Given the description of an element on the screen output the (x, y) to click on. 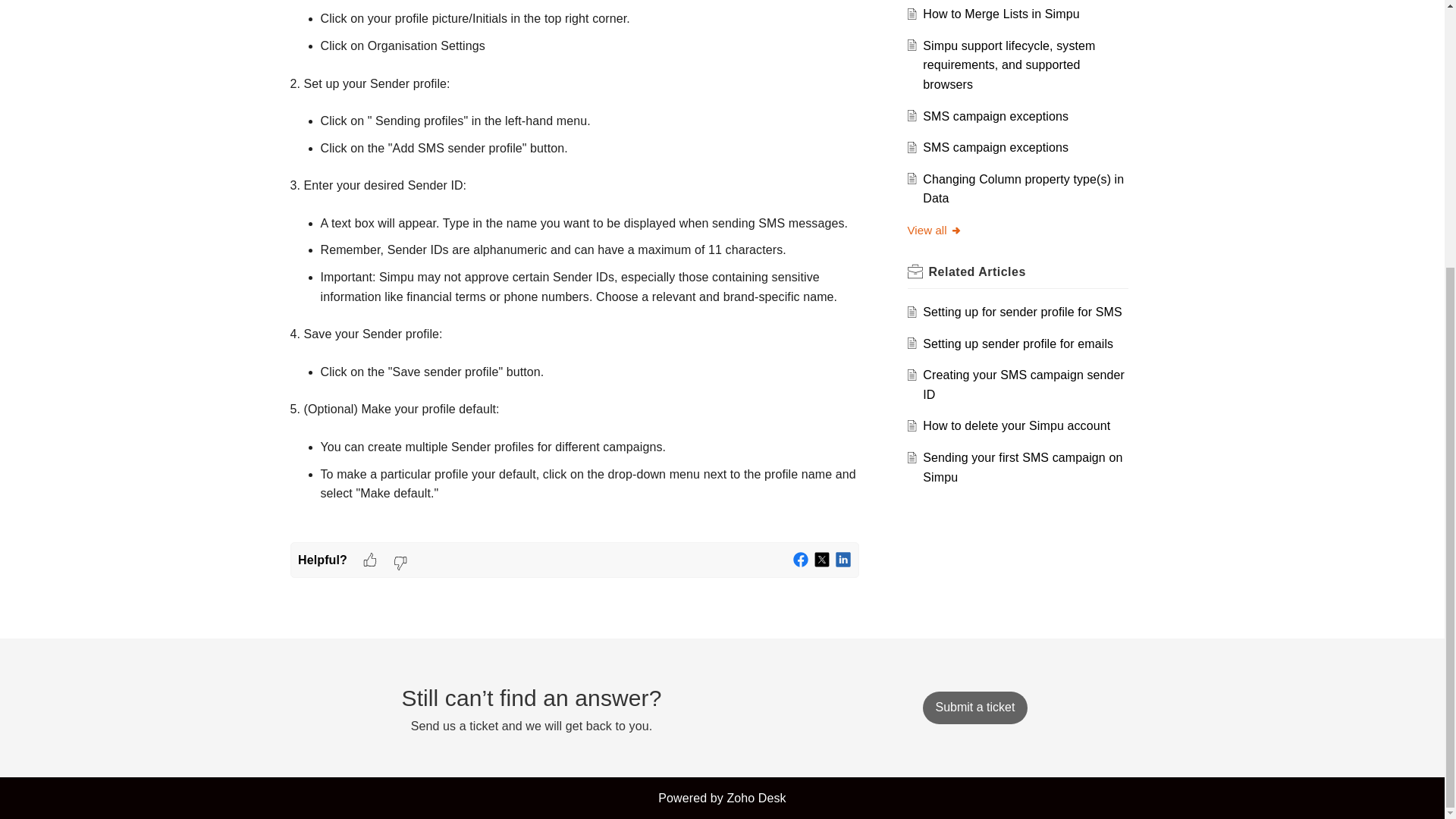
Submit a ticket (974, 707)
SMS campaign exceptions (995, 146)
Twitter (821, 559)
Sending your first SMS campaign on Simpu (1022, 467)
SMS campaign exceptions (995, 115)
LinkedIn (842, 559)
Submit a ticket (974, 707)
Creating your SMS campaign sender ID (1023, 384)
Facebook (800, 559)
View all (933, 229)
How to delete your Simpu account (1016, 425)
Zoho Desk (756, 797)
Setting up sender profile for emails (1018, 343)
	 SMS campaign exceptions (995, 115)
